Given the description of an element on the screen output the (x, y) to click on. 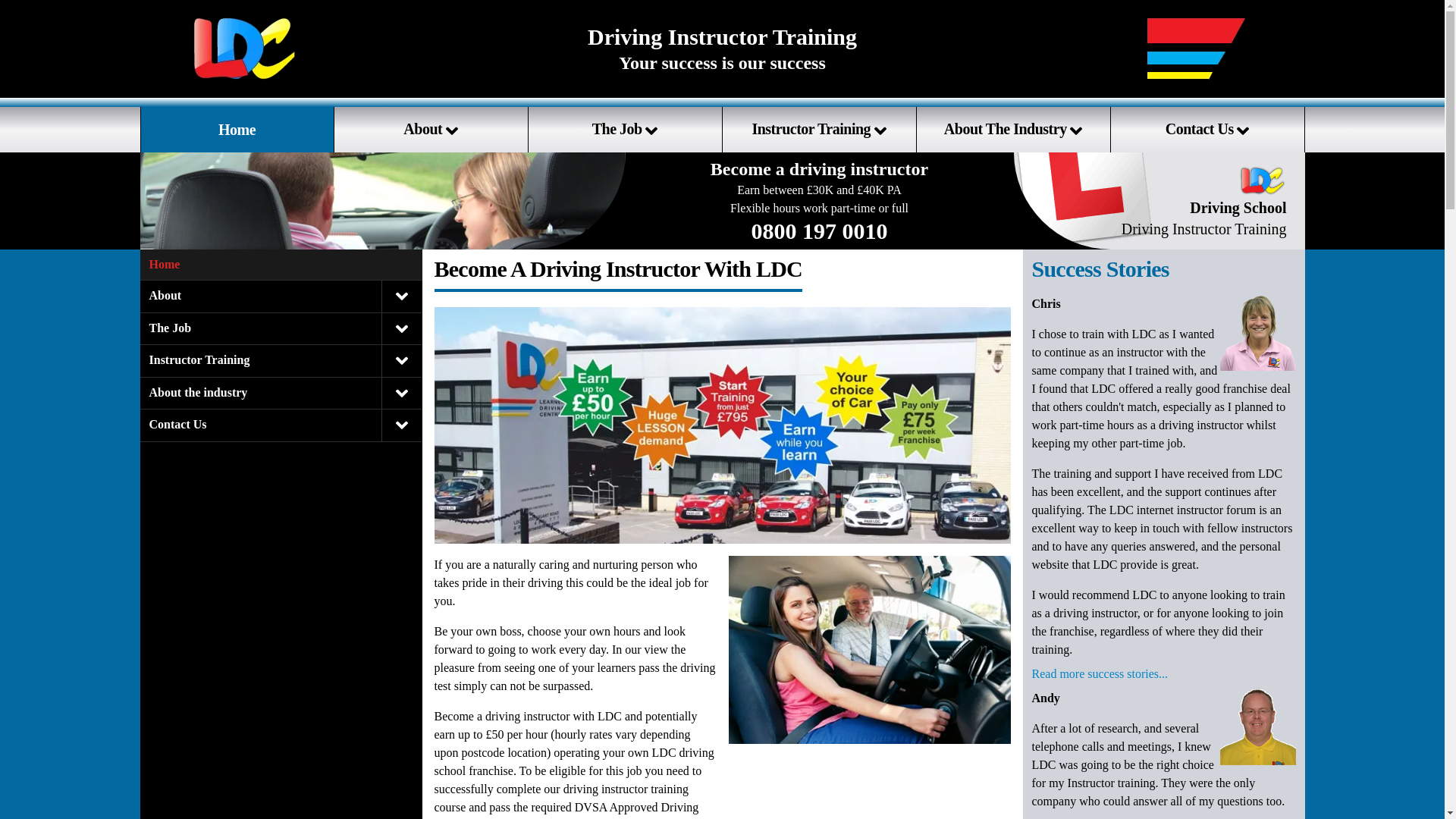
LDC Logo (244, 48)
More success stories (1098, 676)
LDC Driving School (1158, 200)
The Job (624, 129)
LDC Logo (1261, 174)
LDC Stripes (1200, 48)
Chris Success Story (1257, 332)
Andy Success Story (1257, 726)
About (430, 129)
Home (236, 129)
